Given the description of an element on the screen output the (x, y) to click on. 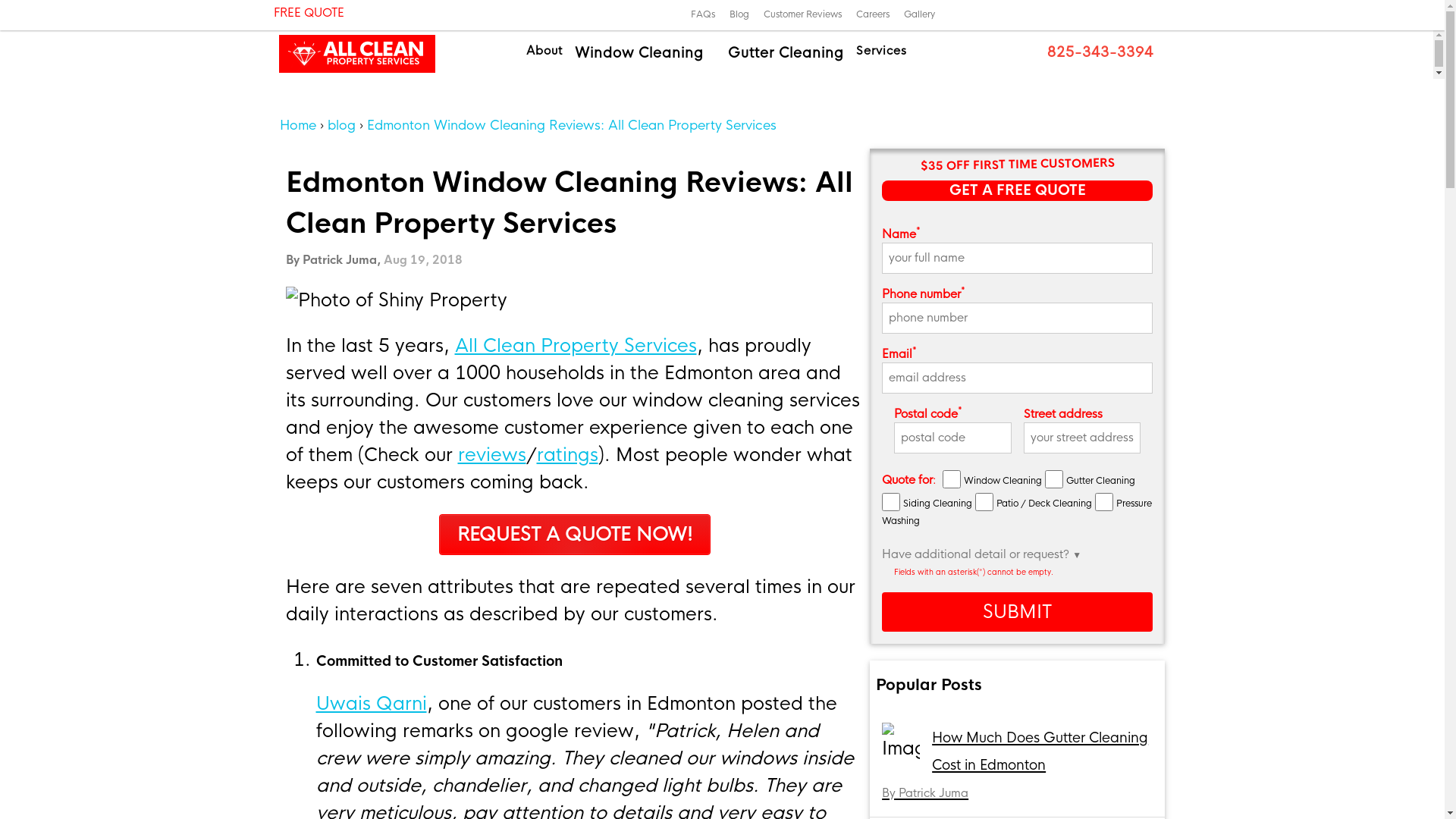
Uwais Qarni Element type: text (370, 703)
ratings Element type: text (567, 454)
SUBMIT Element type: text (1016, 611)
 FREE QUOTE Element type: text (359, 12)
Gallery Element type: text (919, 14)
 REQUEST A QUOTE NOW!  Element type: text (574, 534)
Gutter Cleaning Element type: text (785, 53)
Careers Element type: text (872, 14)
FAQs Element type: text (702, 14)
 825-343-3394 Element type: text (1097, 51)
Home Element type: text (299, 125)
About Element type: text (544, 53)
Window Cleaning Element type: text (638, 53)
Customer Reviews Element type: text (802, 14)
reviews Element type: text (492, 454)
blog Element type: text (343, 125)
All Clean Property Services Element type: text (575, 345)
Blog Element type: text (739, 14)
Home page Element type: hover (715, 53)
Services Element type: text (881, 53)
